Given the description of an element on the screen output the (x, y) to click on. 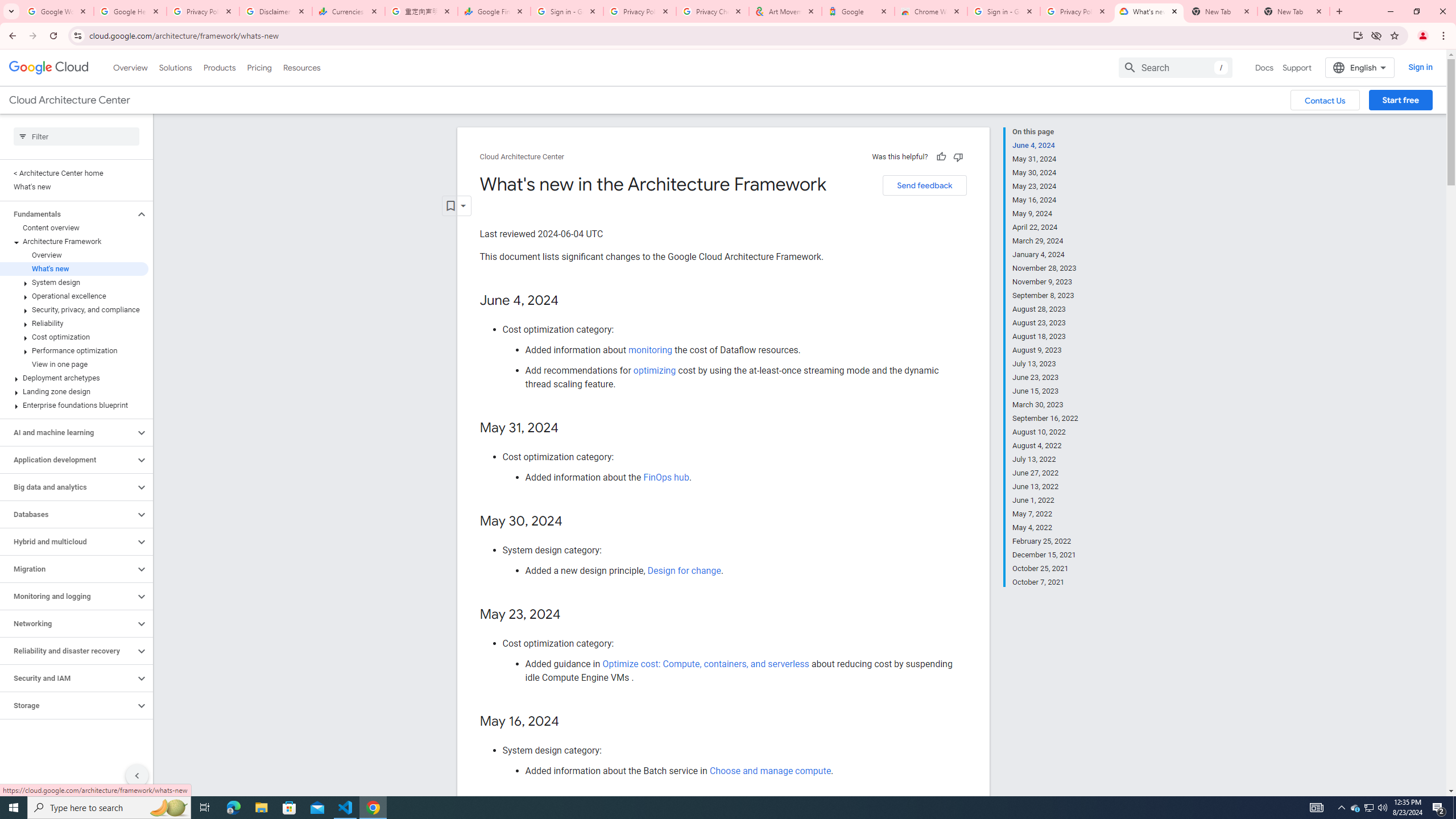
Design for change (683, 570)
May 31, 2024 (1044, 159)
Solutions (175, 67)
Performance optimization (74, 350)
Storage (67, 705)
Reliability (74, 323)
Enterprise foundations blueprint (74, 404)
Databases (67, 514)
Sign in - Google Accounts (1003, 11)
Hybrid and multicloud (67, 541)
Sign in - Google Accounts (566, 11)
June 15, 2023 (1044, 391)
